Given the description of an element on the screen output the (x, y) to click on. 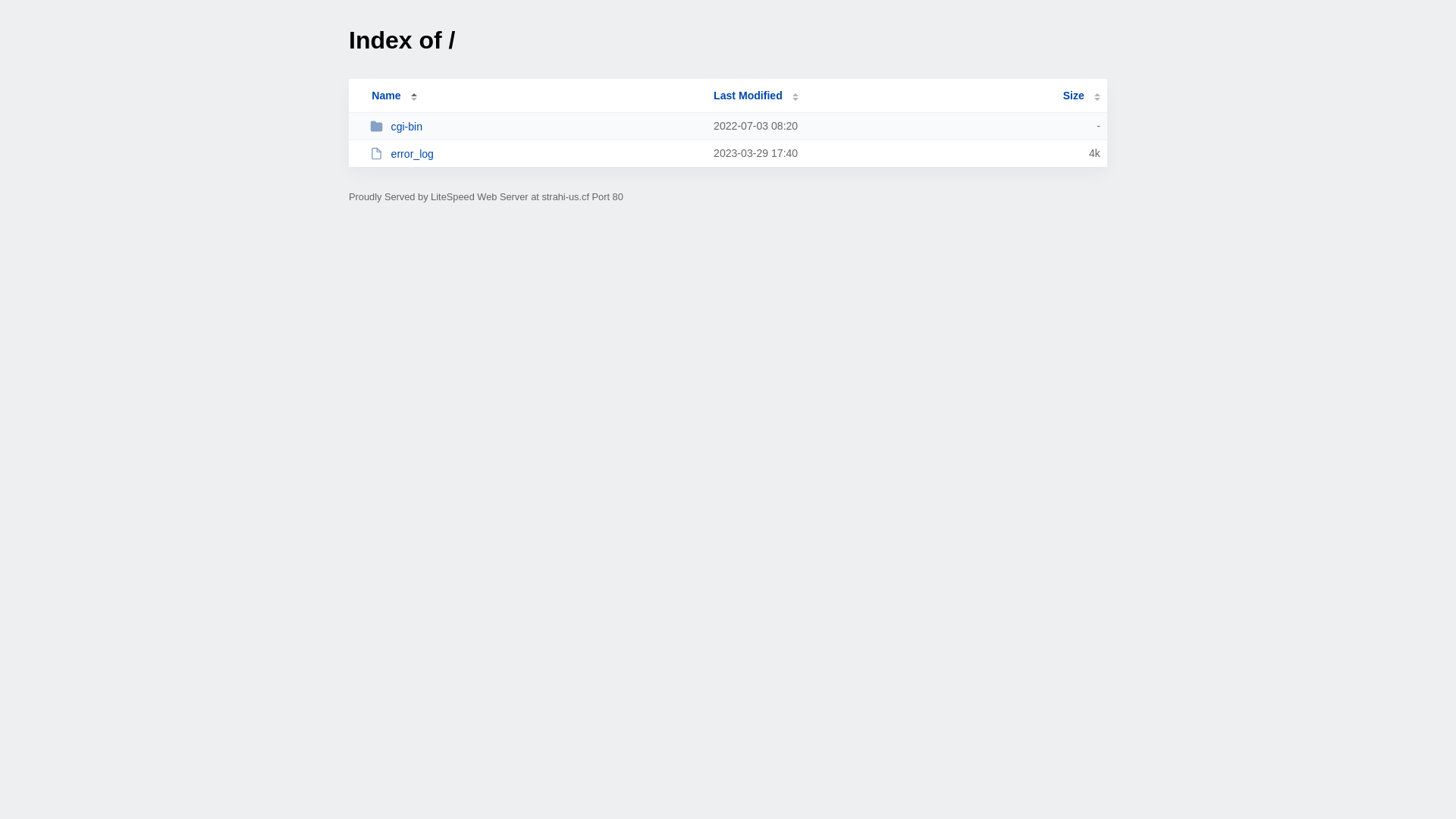
Size Element type: text (1081, 95)
Last Modified Element type: text (755, 95)
error_log Element type: text (534, 153)
cgi-bin Element type: text (534, 125)
Name Element type: text (385, 95)
